Given the description of an element on the screen output the (x, y) to click on. 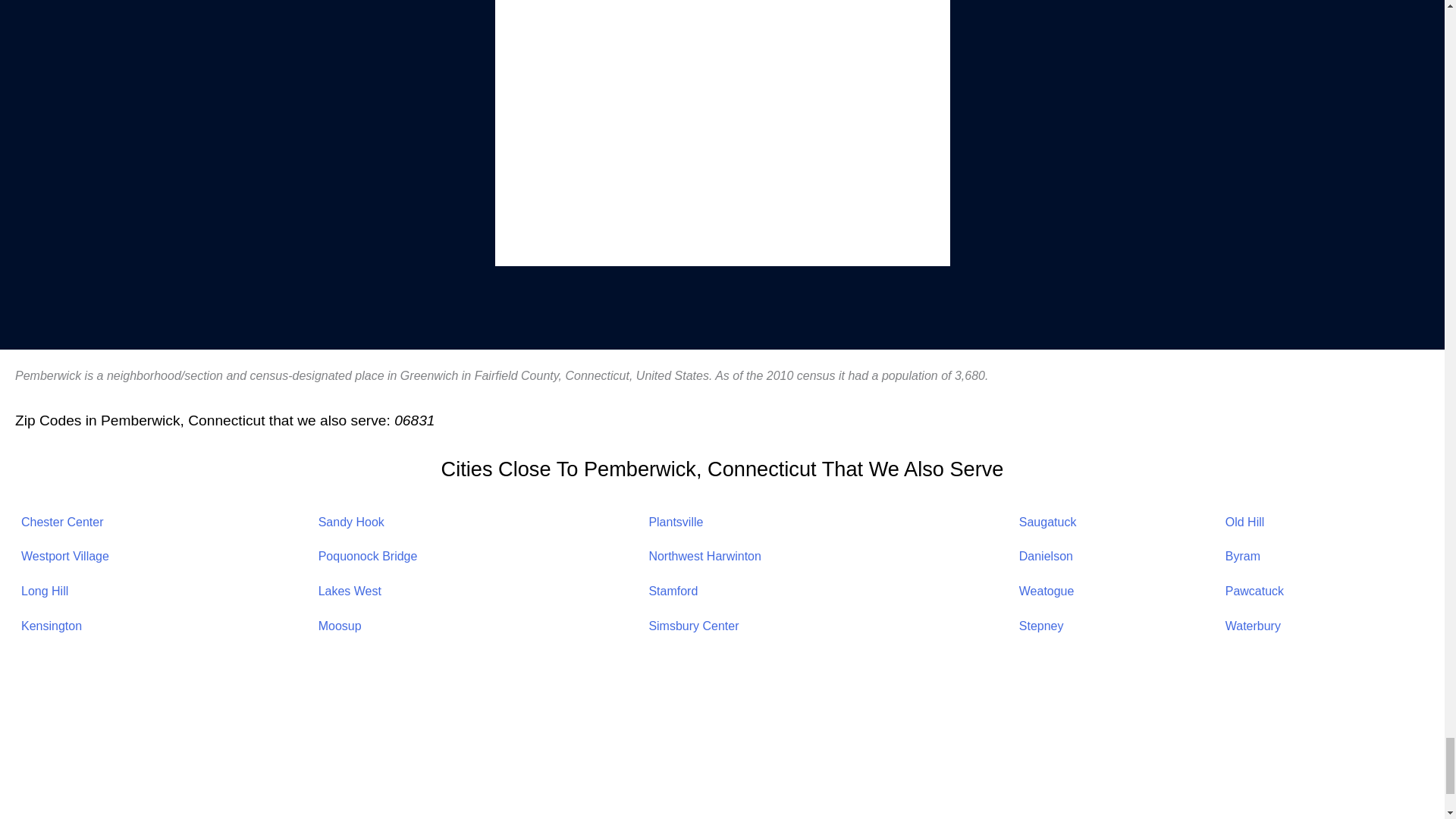
Old Hill (1245, 521)
Northwest Harwinton (704, 555)
Plantsville (675, 521)
Sandy Hook (351, 521)
Poquonock Bridge (367, 555)
Saugatuck (1048, 521)
Chester Center (62, 521)
Westport Village (65, 555)
